Given the description of an element on the screen output the (x, y) to click on. 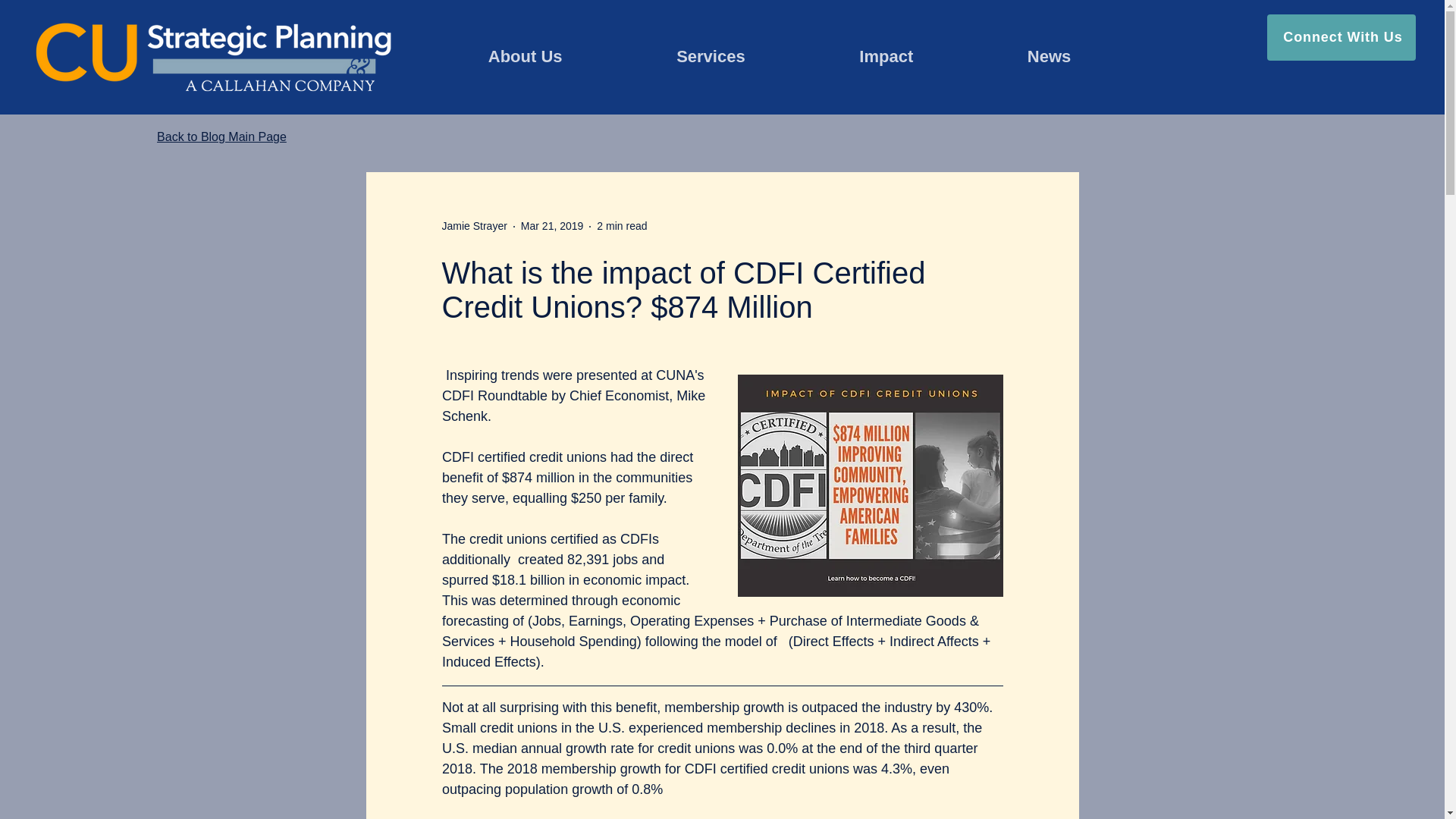
News (1049, 56)
2 min read (621, 225)
Jamie Strayer (473, 226)
Impact (886, 56)
About Us (524, 56)
Mar 21, 2019 (552, 225)
Back to Blog Main Page (221, 136)
